Given the description of an element on the screen output the (x, y) to click on. 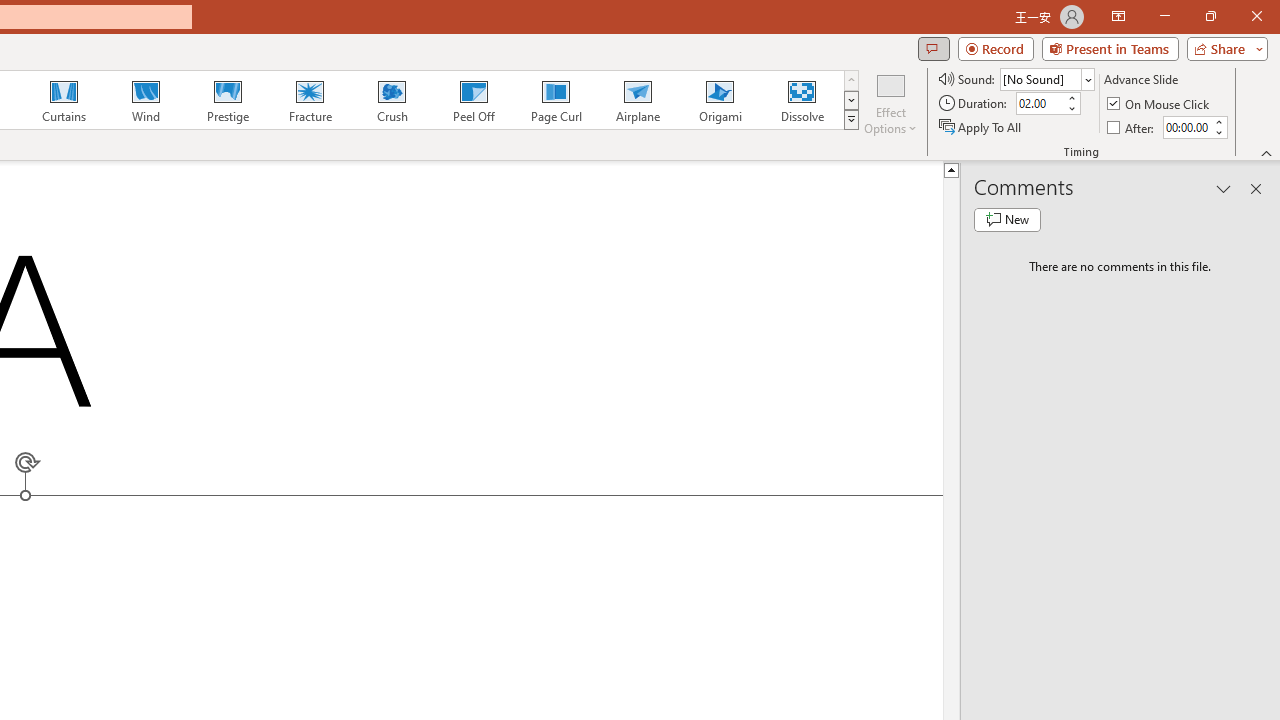
Peel Off (473, 100)
Fracture (309, 100)
Transition Effects (850, 120)
Page Curl (555, 100)
Sound (1046, 78)
New comment (1007, 219)
